Given the description of an element on the screen output the (x, y) to click on. 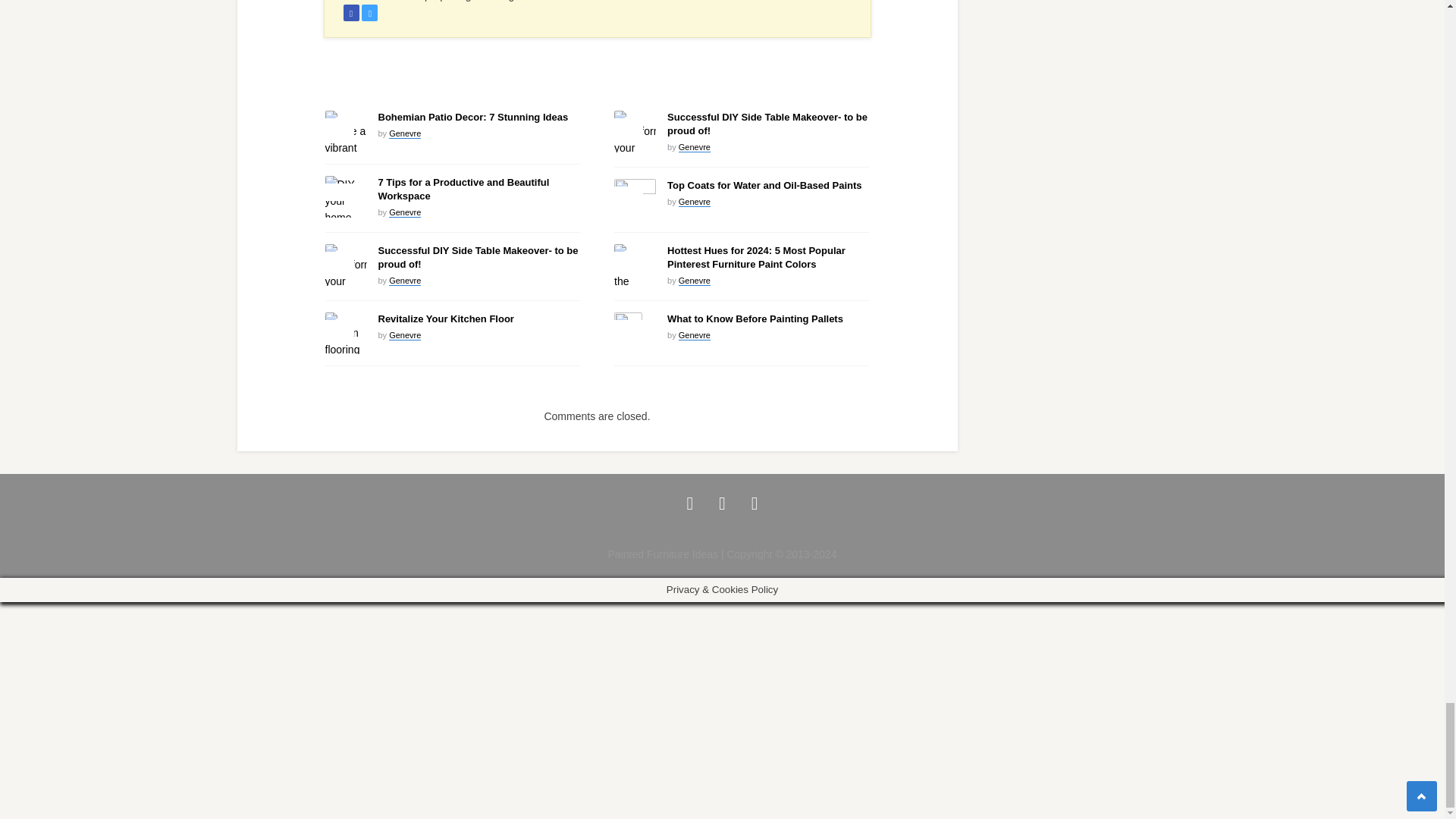
Posts by Genevre (694, 146)
Posts by Genevre (404, 334)
Posts by Genevre (694, 334)
Posts by Genevre (404, 212)
Posts by Genevre (404, 132)
Posts by Genevre (694, 280)
0 (338, 126)
Posts by Genevre (694, 201)
Posts by Genevre (404, 280)
